Given the description of an element on the screen output the (x, y) to click on. 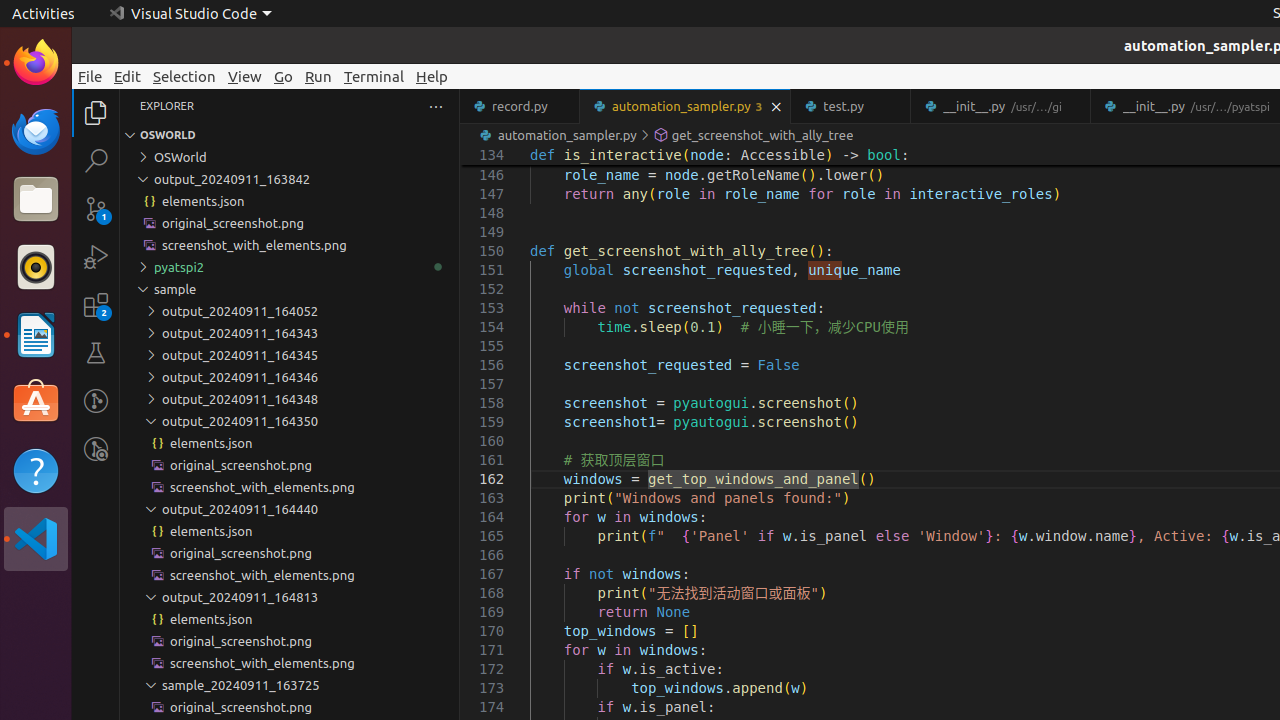
automation_sampler.py Element type: page-tab (686, 106)
GitLens Inspect Element type: page-tab (96, 449)
sample Element type: tree-item (289, 289)
OSWorld Element type: tree-item (289, 157)
